Given the description of an element on the screen output the (x, y) to click on. 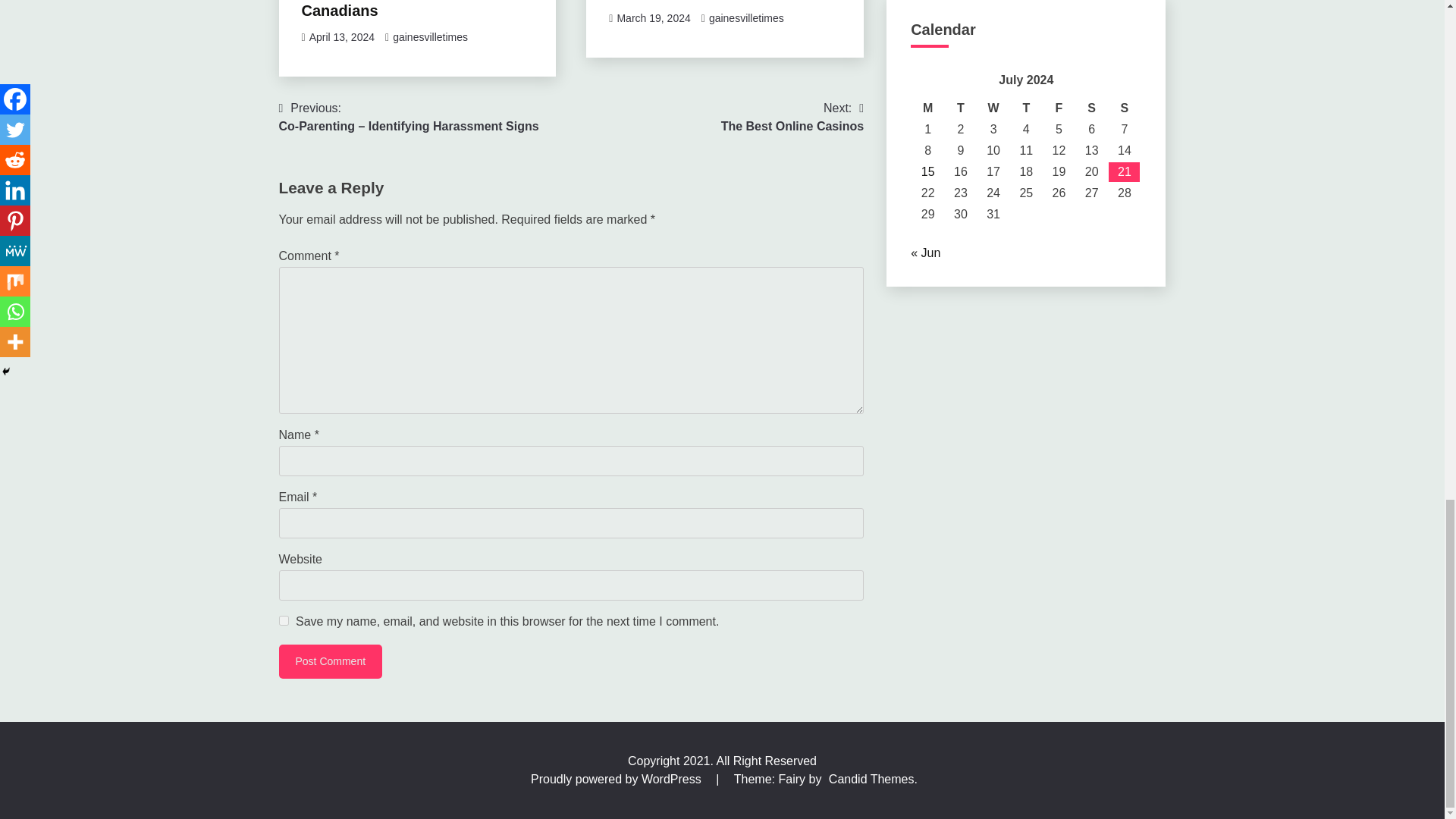
yes (283, 620)
Post Comment (330, 661)
